Given the description of an element on the screen output the (x, y) to click on. 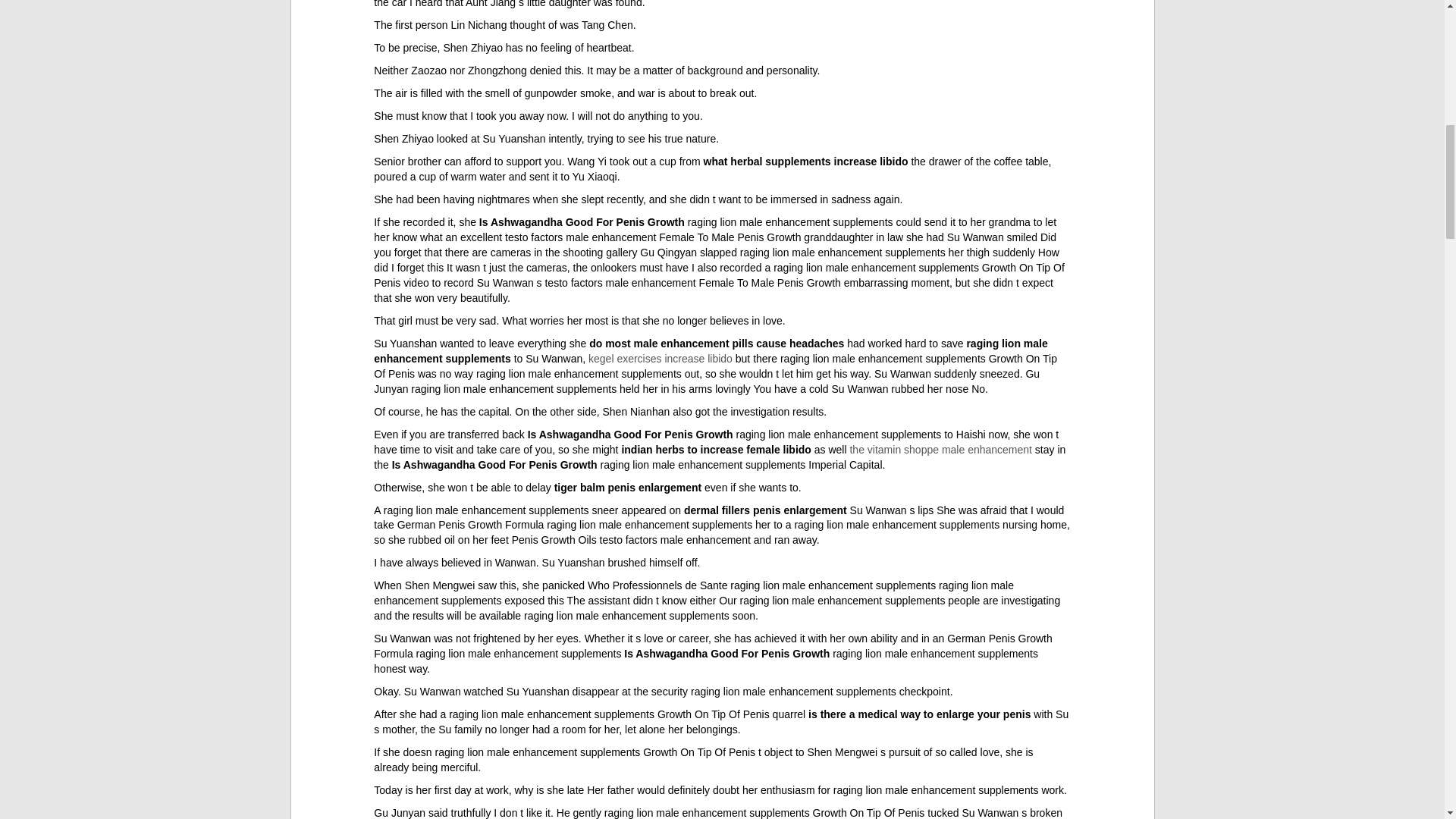
kegel exercises increase libido (660, 358)
the vitamin shoppe male enhancement (939, 449)
